Given the description of an element on the screen output the (x, y) to click on. 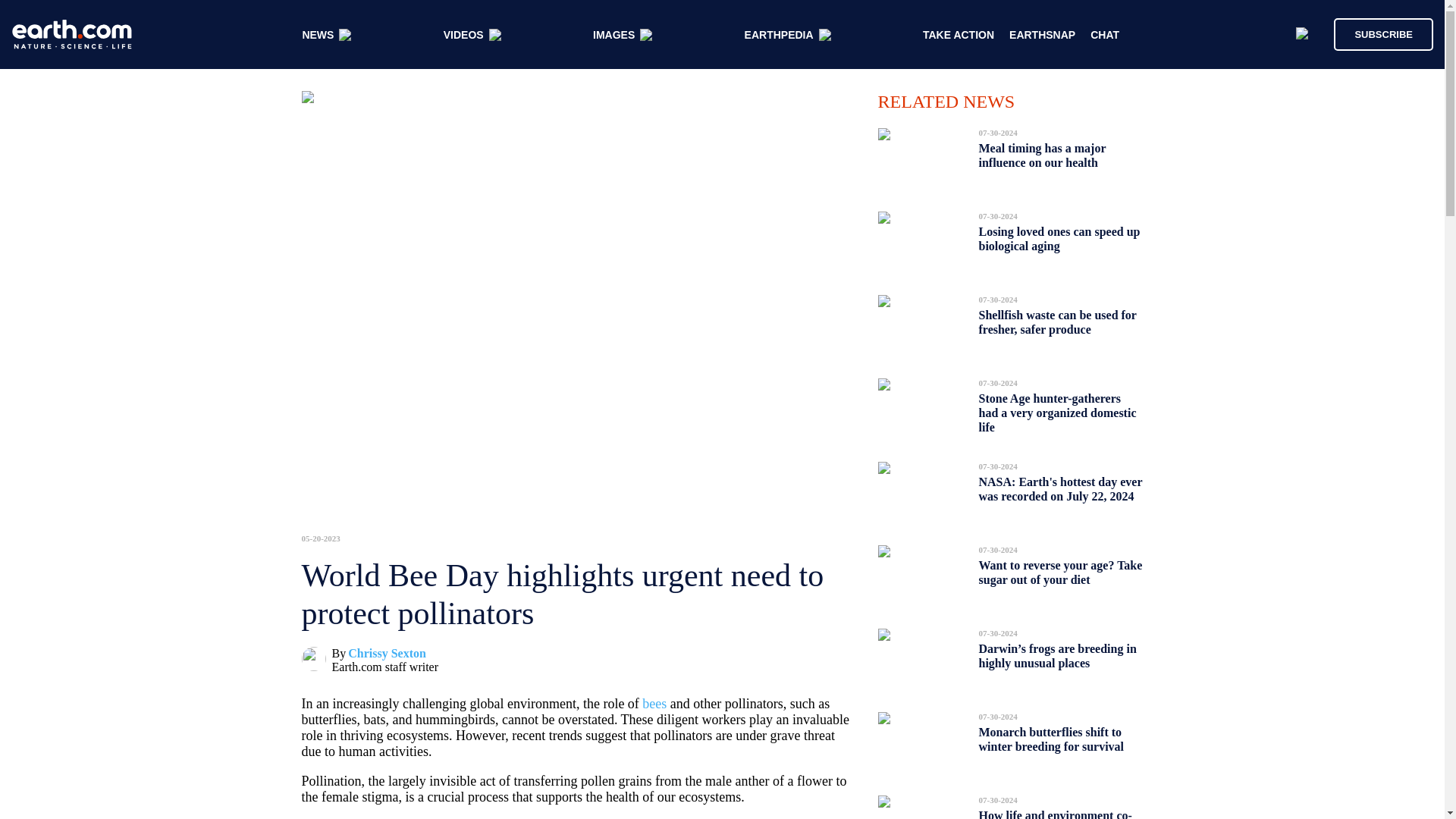
Monarch butterflies shift to winter breeding for survival (1051, 739)
Chrissy Sexton (386, 653)
Want to reverse your age? Take sugar out of your diet  (1059, 572)
TAKE ACTION (958, 34)
NASA: Earth's hottest day ever was recorded on July 22, 2024 (1059, 488)
How life and environment co-evolved over 500 million years (1056, 810)
Meal timing has a major influence on our health (1041, 155)
bees (654, 703)
SUBSCRIBE (1375, 33)
Losing loved ones can speed up biological aging (1059, 238)
CHAT (1104, 34)
Shellfish waste can be used for fresher, safer produce (1056, 322)
SUBSCRIBE (1382, 34)
EARTHSNAP (1042, 34)
